Given the description of an element on the screen output the (x, y) to click on. 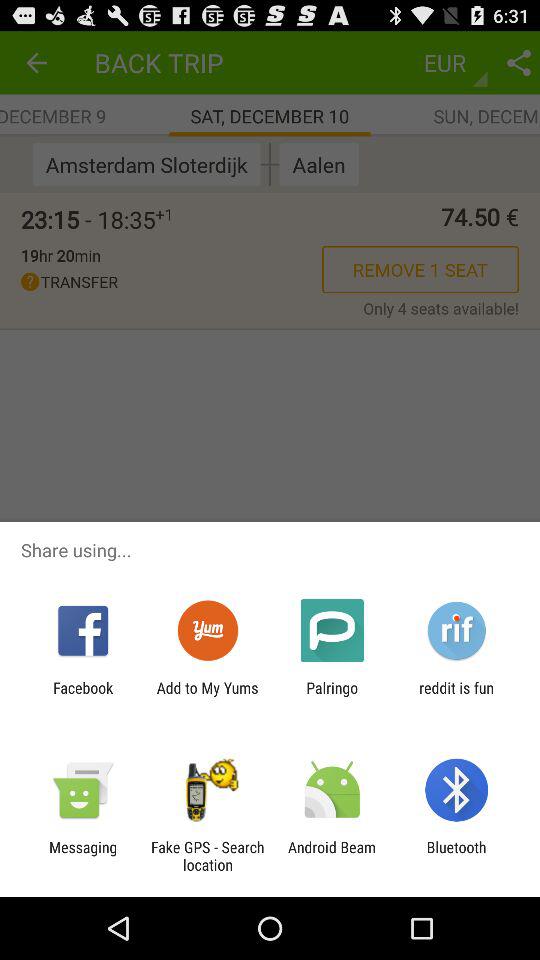
launch facebook item (83, 696)
